Given the description of an element on the screen output the (x, y) to click on. 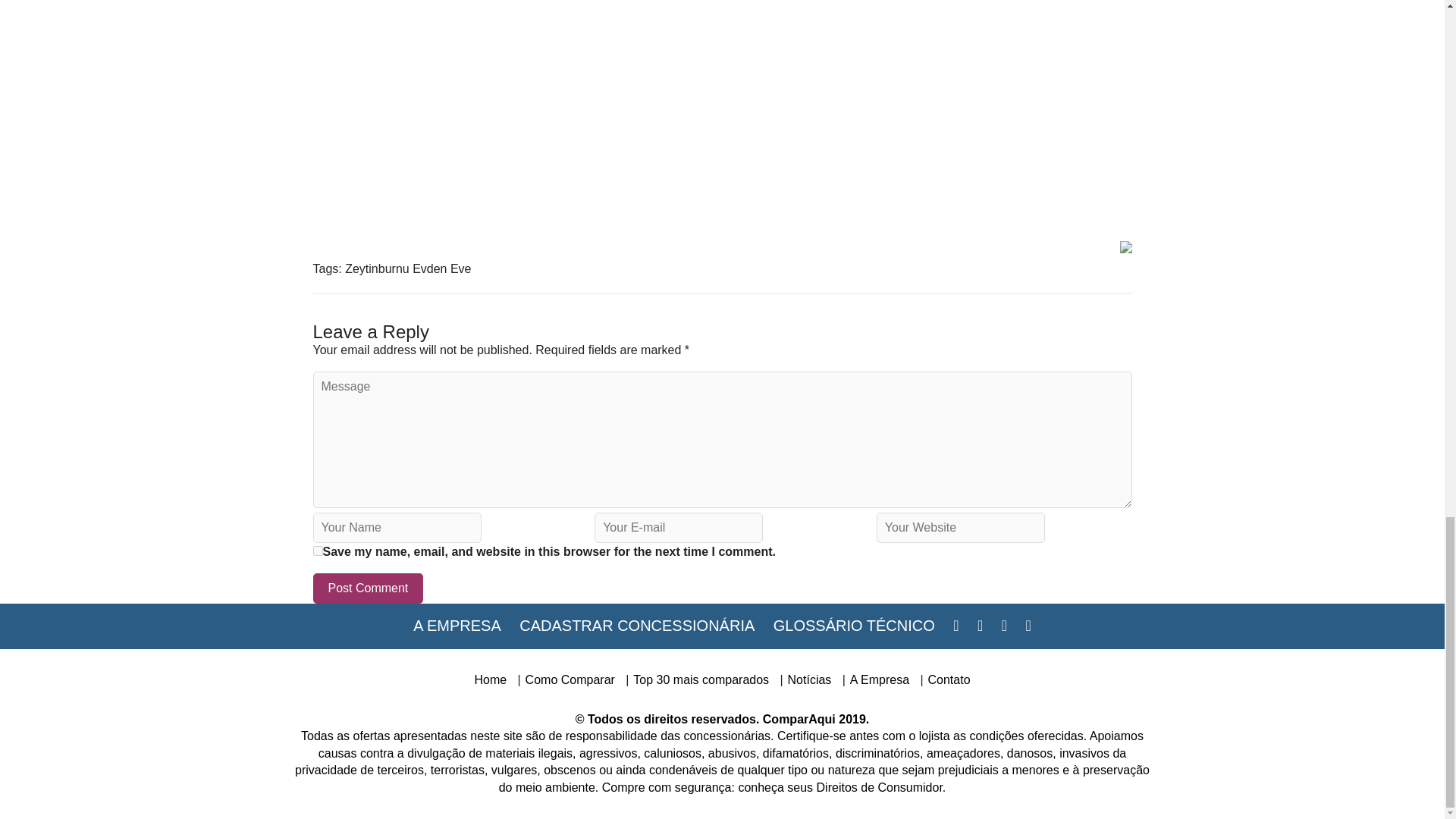
yes (317, 551)
Post Comment (368, 588)
